Given the description of an element on the screen output the (x, y) to click on. 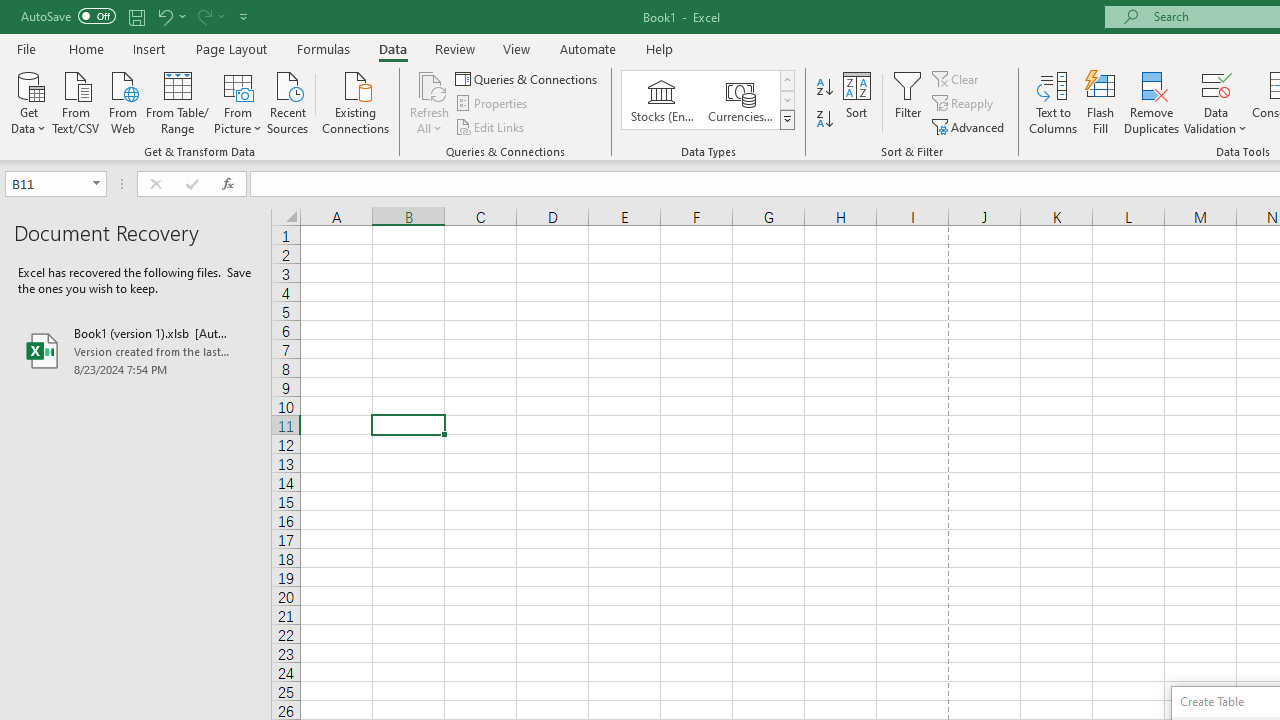
Sort Z to A (824, 119)
Data Validation... (1215, 102)
Class: NetUIImage (787, 119)
Currencies (English) (740, 100)
Existing Connections (355, 101)
From Text/CSV (75, 101)
AutoSave (68, 16)
